Given the description of an element on the screen output the (x, y) to click on. 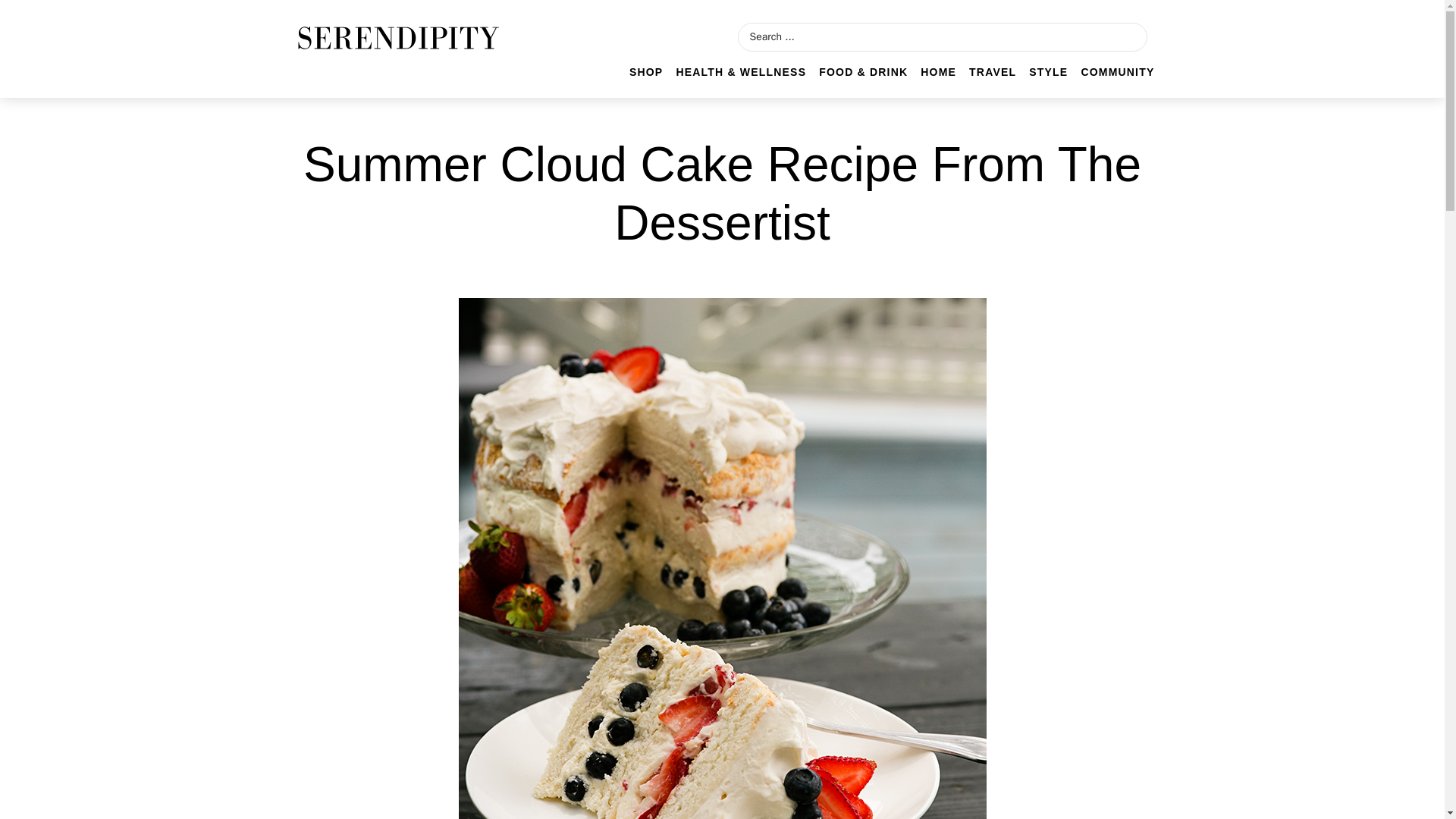
TRAVEL (992, 71)
SHOP (645, 71)
HOME (938, 71)
STYLE (1048, 71)
COMMUNITY (1117, 71)
